Given the description of an element on the screen output the (x, y) to click on. 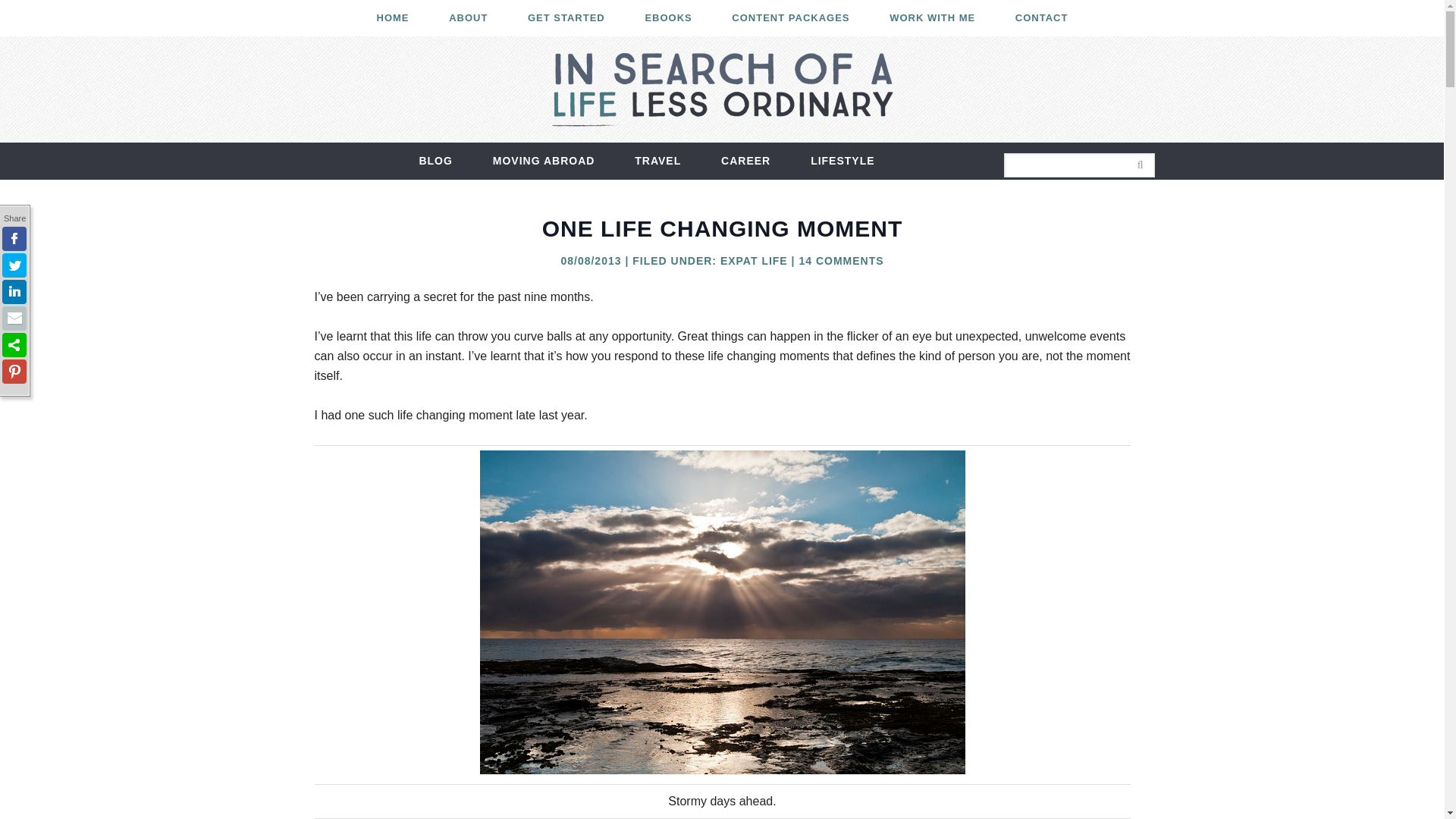
CAREER (746, 160)
ABOUT (467, 18)
LIFESTYLE (842, 160)
TRAVEL (656, 160)
BLOG (435, 160)
HOME (393, 18)
14 COMMENTS (840, 260)
IN SEARCH OF A LIFE LESS ORDINARY (721, 83)
GET STARTED (566, 18)
CONTENT PACKAGES (790, 18)
EBOOKS (668, 18)
Search (1164, 156)
EXPAT LIFE (753, 260)
CONTACT (1041, 18)
Search (1164, 156)
